Given the description of an element on the screen output the (x, y) to click on. 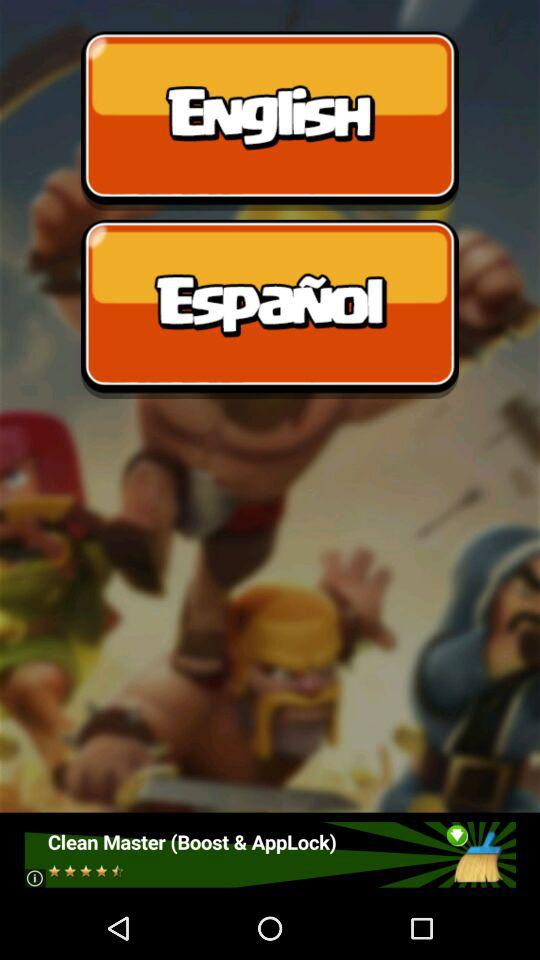
choose spanish (270, 309)
